Given the description of an element on the screen output the (x, y) to click on. 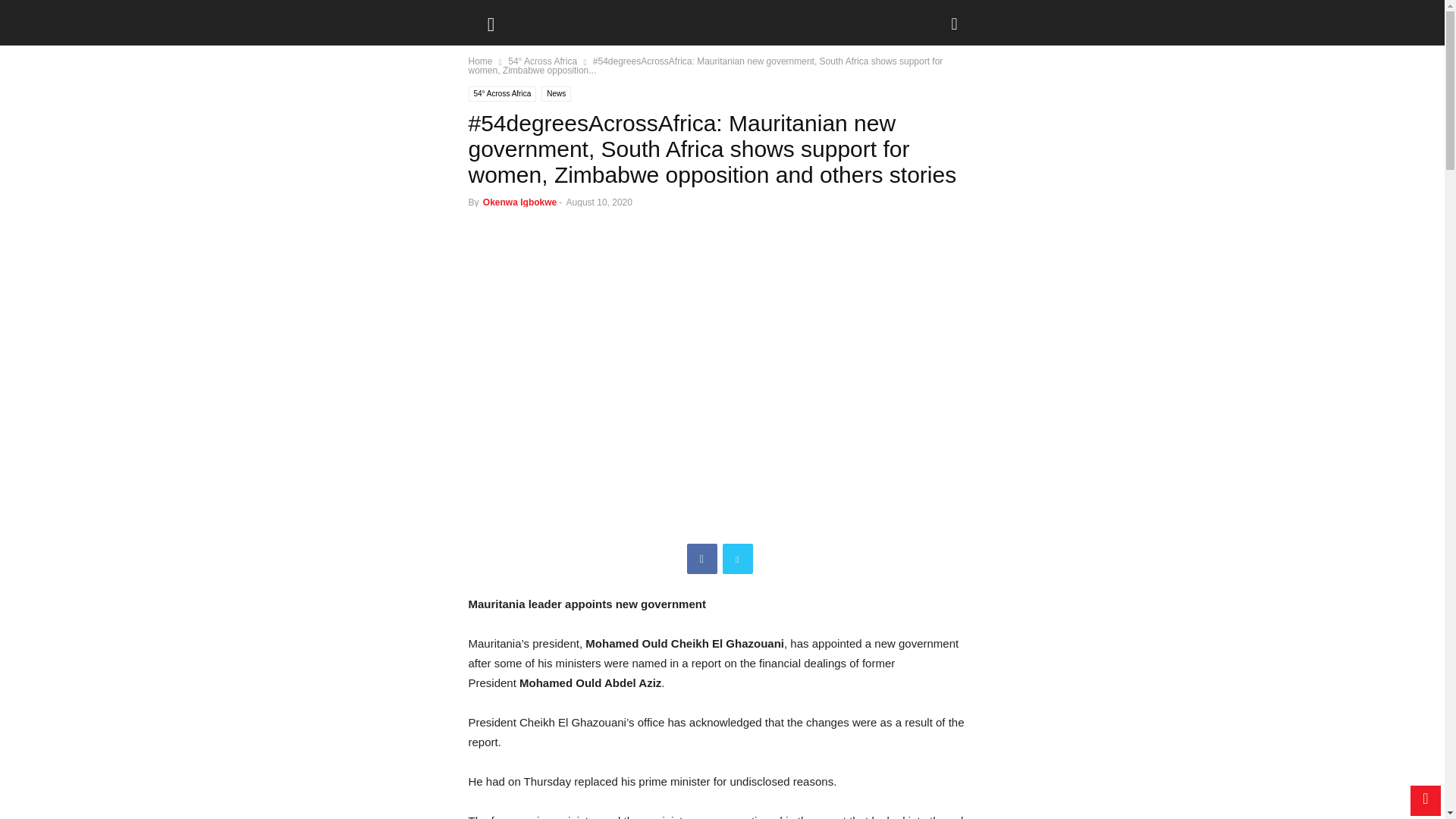
Facebook (702, 558)
News (555, 93)
Twitter (737, 558)
Home (480, 61)
Okenwa Igbokwe (519, 202)
